Given the description of an element on the screen output the (x, y) to click on. 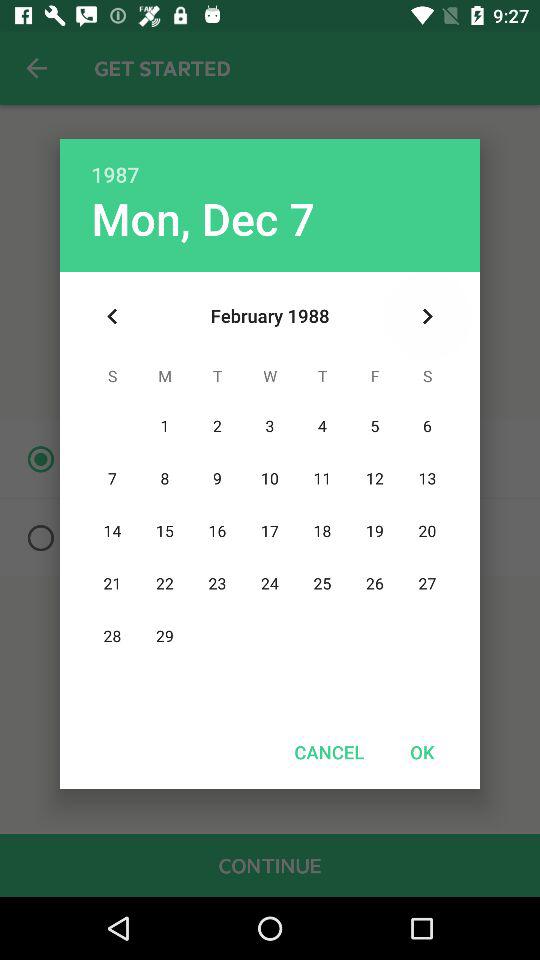
turn off icon above ok icon (427, 316)
